Given the description of an element on the screen output the (x, y) to click on. 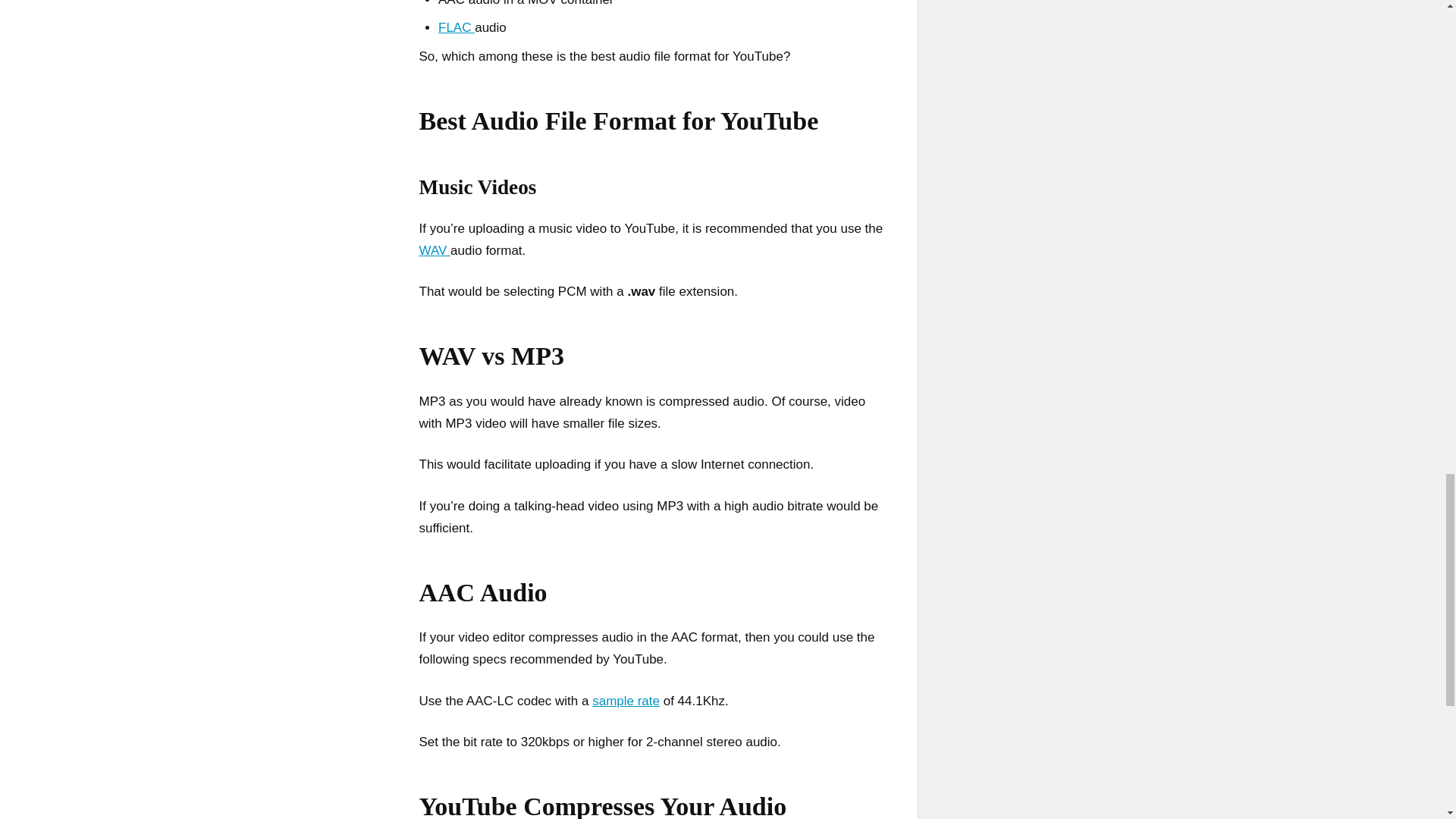
WAV (434, 250)
sample rate (625, 700)
FLAC (456, 27)
